Given the description of an element on the screen output the (x, y) to click on. 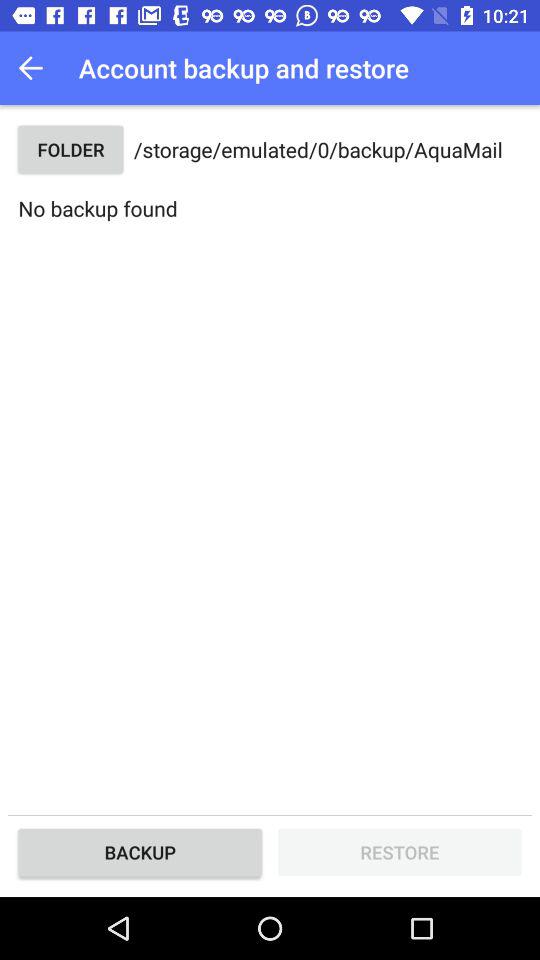
launch the folder icon (70, 149)
